Given the description of an element on the screen output the (x, y) to click on. 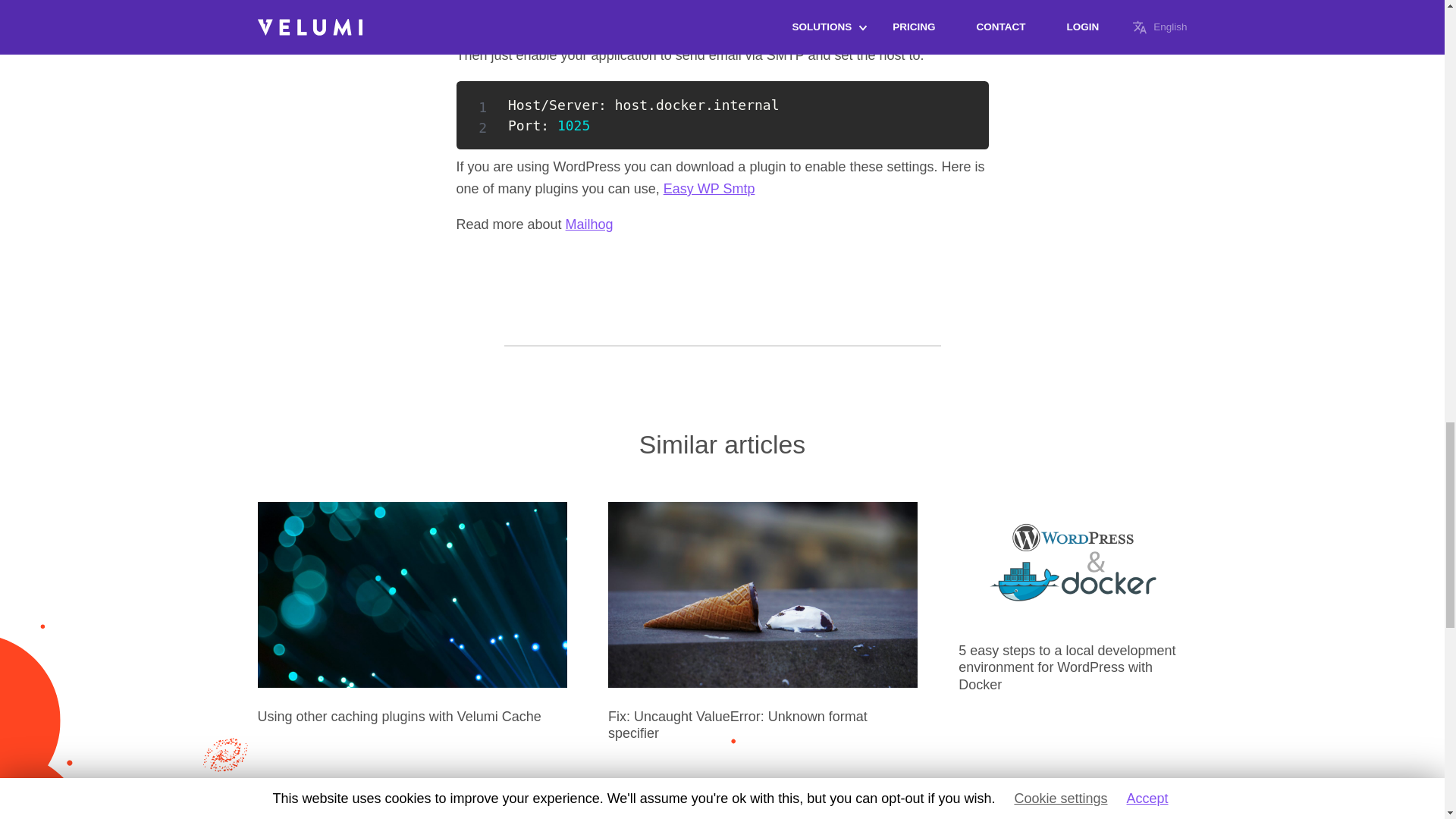
Easy WP Smtp (709, 188)
Mailhog (589, 224)
Fix: Uncaught ValueError: Unknown format specifier (737, 725)
Using other caching plugins with Velumi Cache (399, 716)
